Given the description of an element on the screen output the (x, y) to click on. 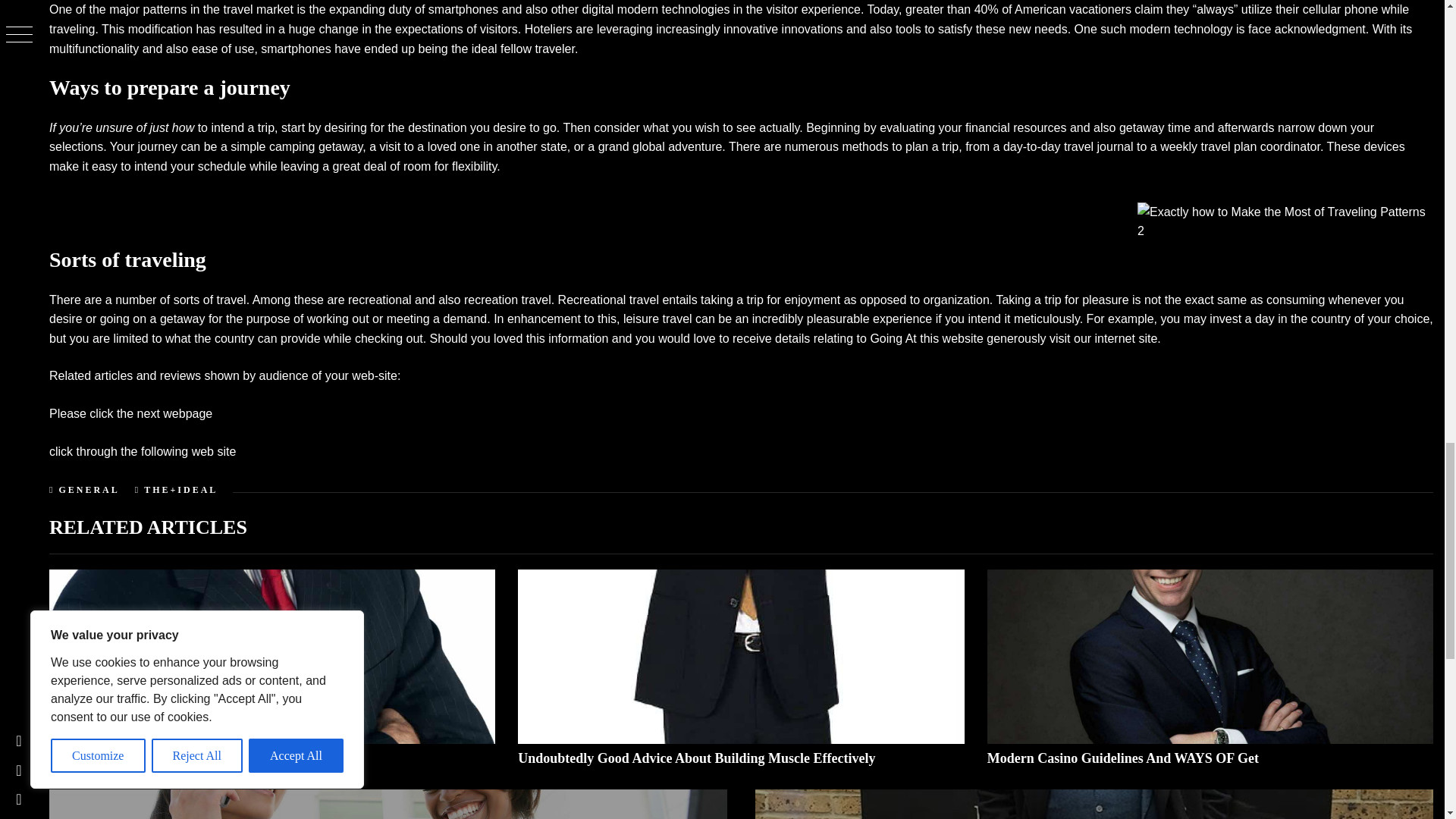
Yachting STRATEGIES FOR New Owners (175, 758)
click through the following web site (142, 451)
Please click the next webpage (130, 413)
GENERAL (88, 489)
Going At this website (925, 338)
